Given the description of an element on the screen output the (x, y) to click on. 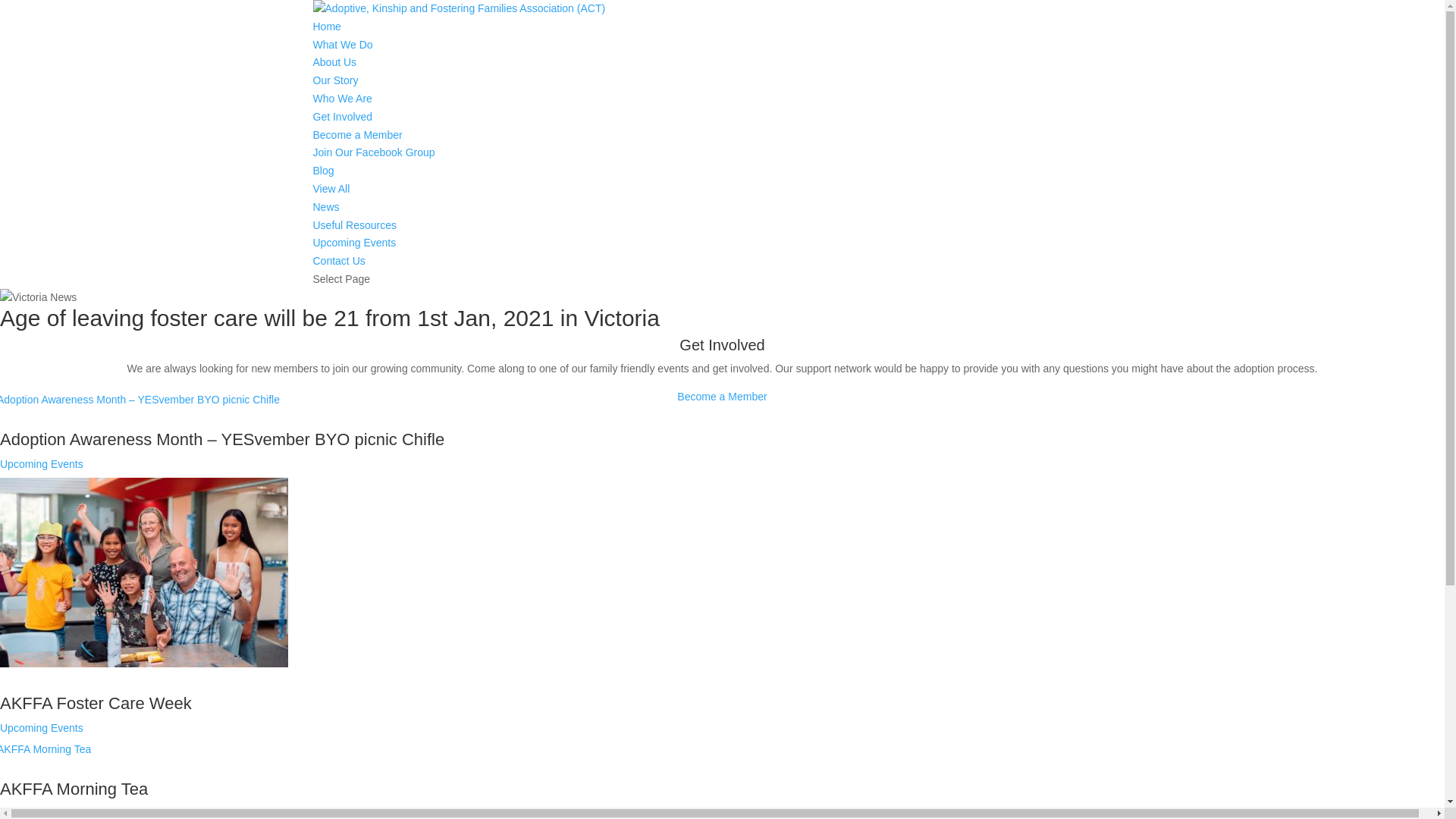
Become a Member Element type: text (356, 134)
News Element type: text (325, 206)
Home Element type: text (326, 26)
AKFFA Morning Tea Element type: text (73, 788)
Victoria News Element type: hover (38, 297)
Join Our Facebook Group Element type: text (373, 152)
Upcoming Events Element type: text (41, 727)
View All Element type: text (330, 188)
Get Involved Element type: text (342, 116)
About Us Element type: text (334, 62)
Contact Us Element type: text (338, 260)
Upcoming Events Element type: text (353, 242)
AKFFA Foster Care Week Element type: text (95, 702)
Upcoming Events Element type: text (41, 464)
What We Do Element type: text (342, 44)
Our Story Element type: text (334, 80)
Who We Are Element type: text (341, 98)
Useful Resources Element type: text (354, 225)
Become a Member Element type: text (721, 396)
Blog Element type: text (322, 170)
